Given the description of an element on the screen output the (x, y) to click on. 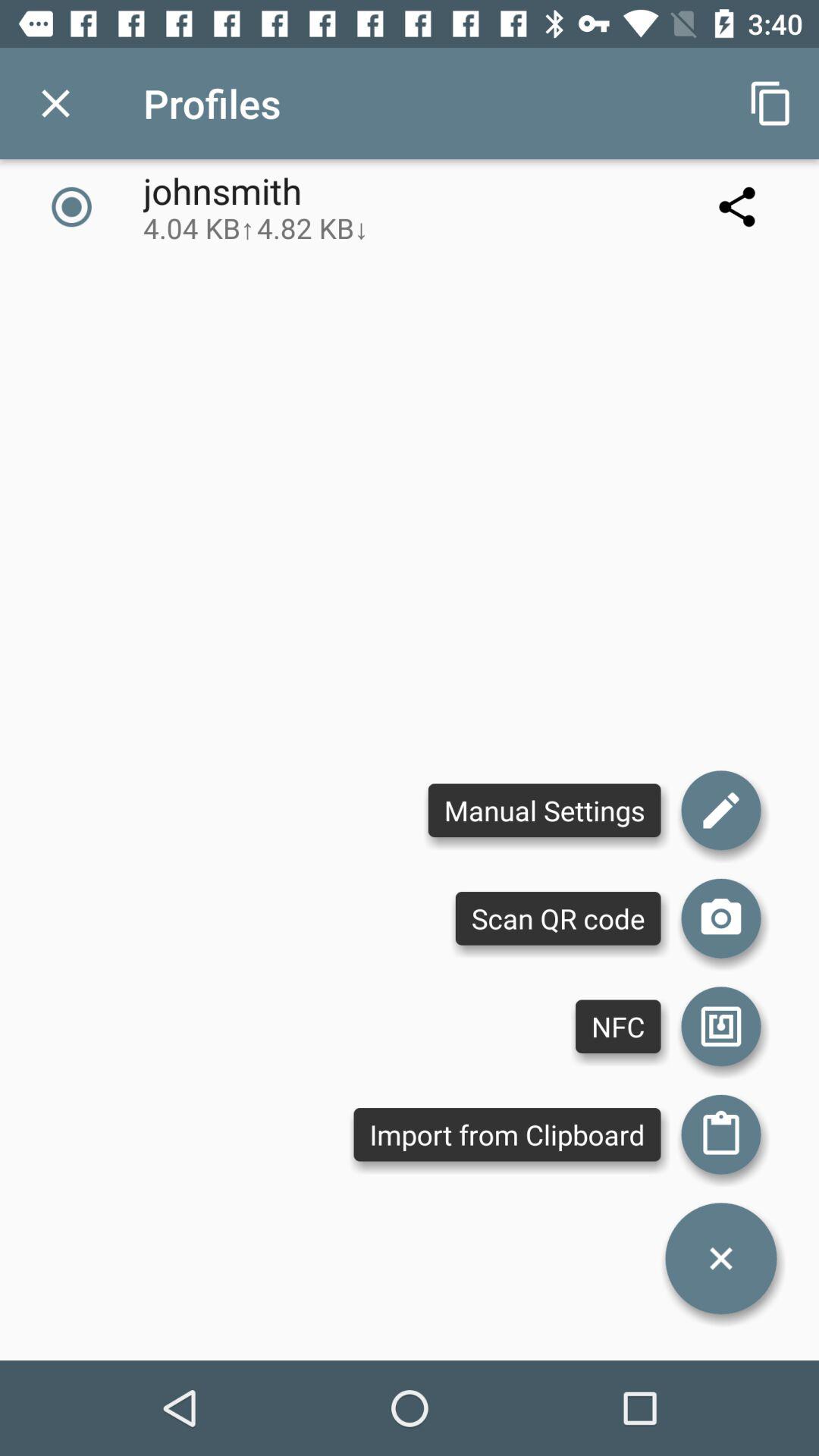
launch scan qr code item (558, 918)
